Given the description of an element on the screen output the (x, y) to click on. 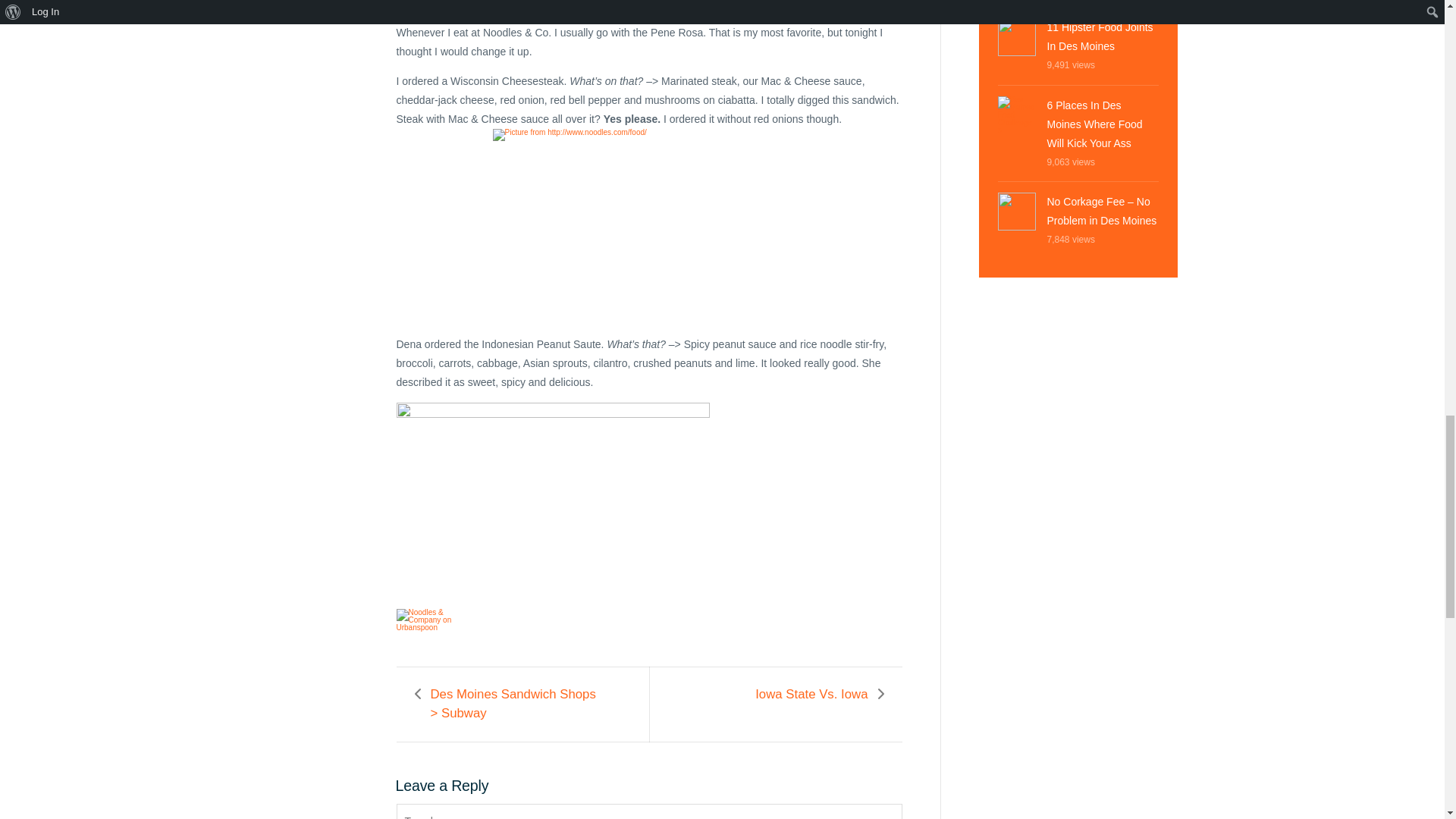
Previous (517, 704)
Next (811, 694)
Iowa State Vs. Iowa (811, 694)
